Given the description of an element on the screen output the (x, y) to click on. 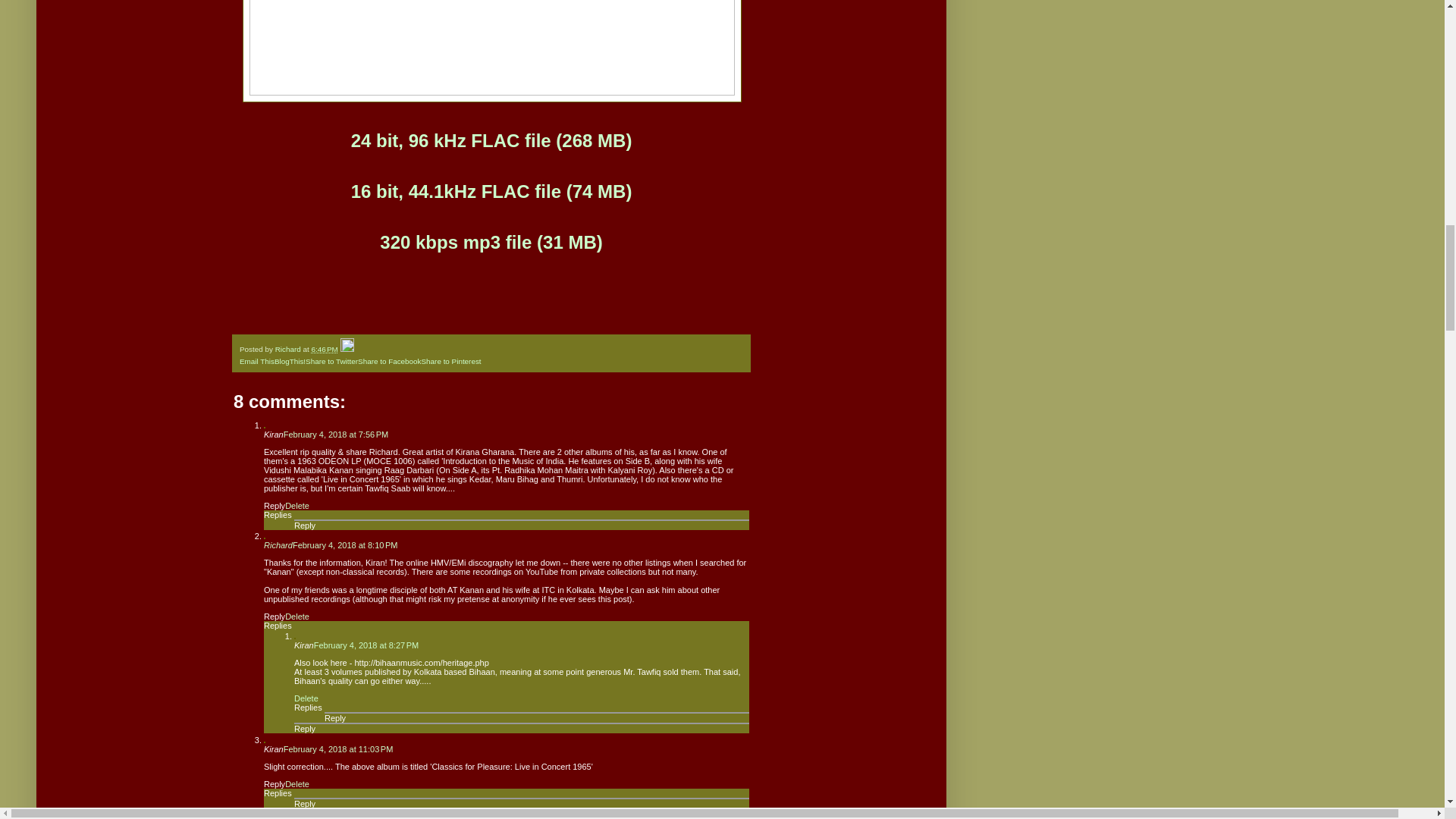
Replies (277, 624)
Email This (257, 361)
Replies (277, 514)
BlogThis! (290, 361)
Email This (257, 361)
BlogThis! (290, 361)
Delete (296, 505)
Share to Facebook (389, 361)
Reply (304, 524)
Delete (296, 615)
Edit Post (346, 348)
Reply (274, 505)
Share to Twitter (331, 361)
Replies (307, 706)
Reply (274, 615)
